Given the description of an element on the screen output the (x, y) to click on. 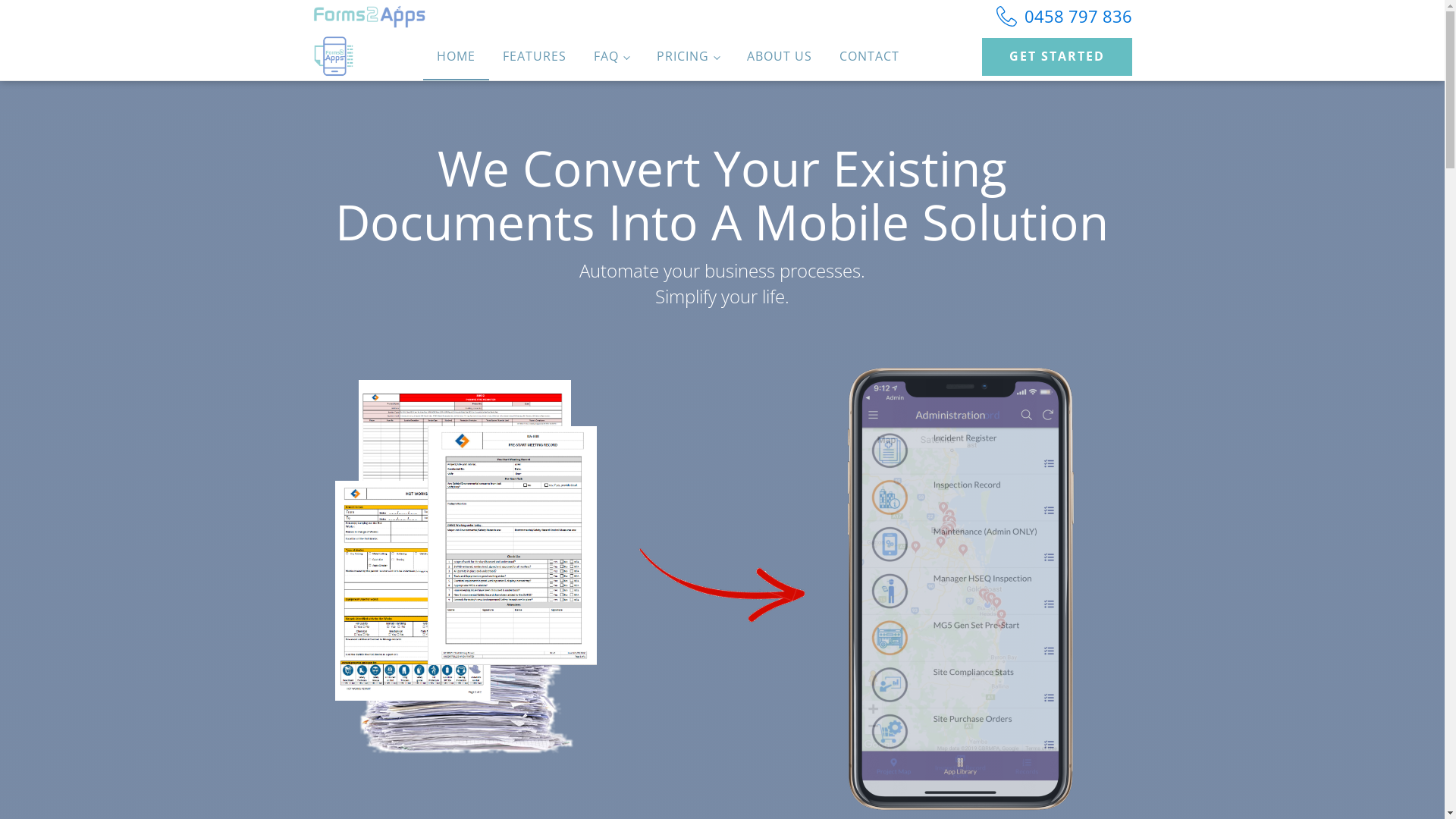
GET STARTED Element type: text (1056, 56)
FEATURES Element type: text (534, 56)
PRICING Element type: text (688, 56)
HOME Element type: text (456, 56)
FAQ Element type: text (611, 56)
ABOUT US Element type: text (779, 56)
CONTACT Element type: text (869, 56)
0458 797 836 Element type: text (1064, 16)
